Given the description of an element on the screen output the (x, y) to click on. 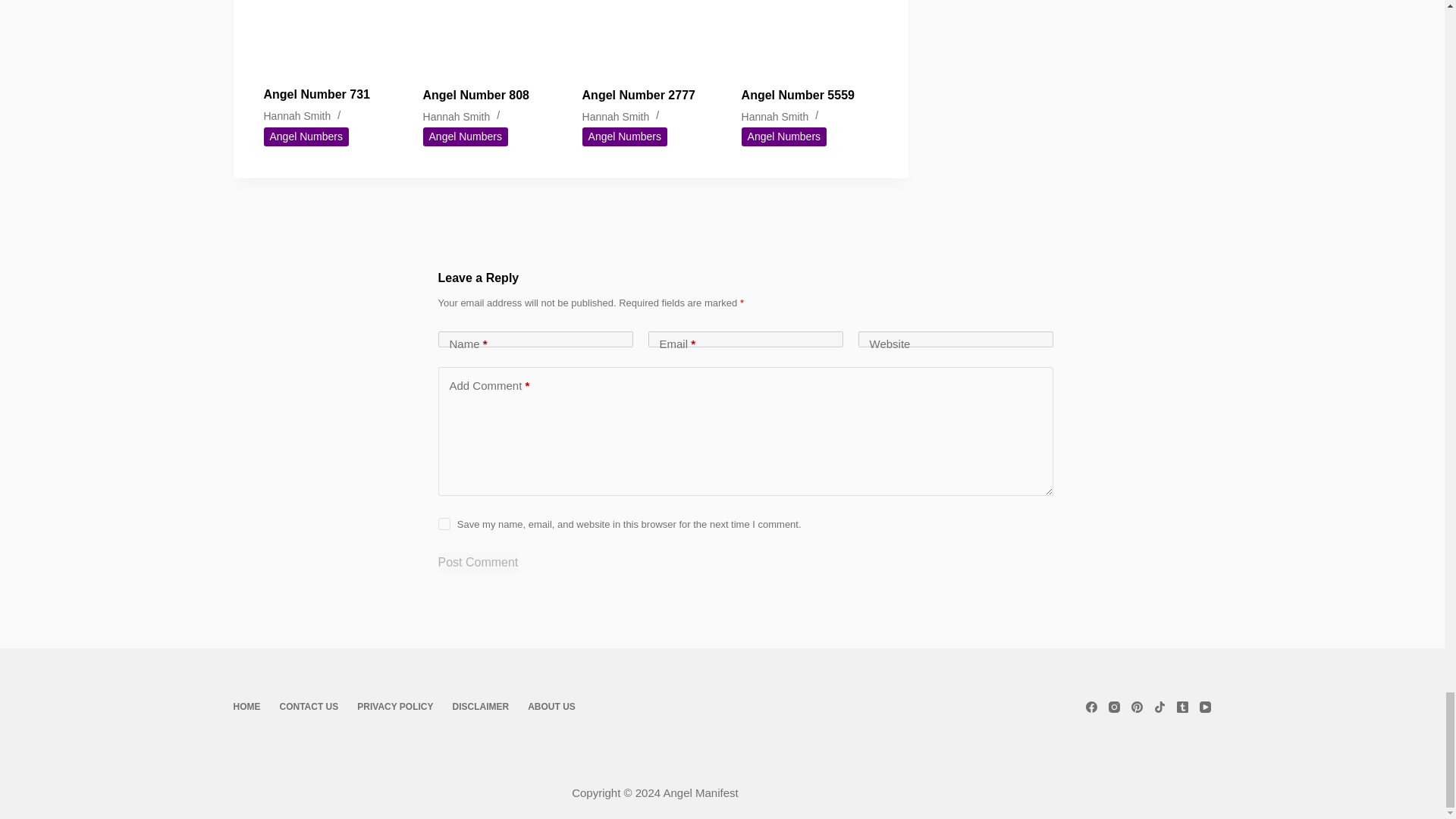
Posts by Hannah Smith (297, 115)
yes (443, 523)
Posts by Hannah Smith (615, 115)
Posts by Hannah Smith (456, 115)
